Given the description of an element on the screen output the (x, y) to click on. 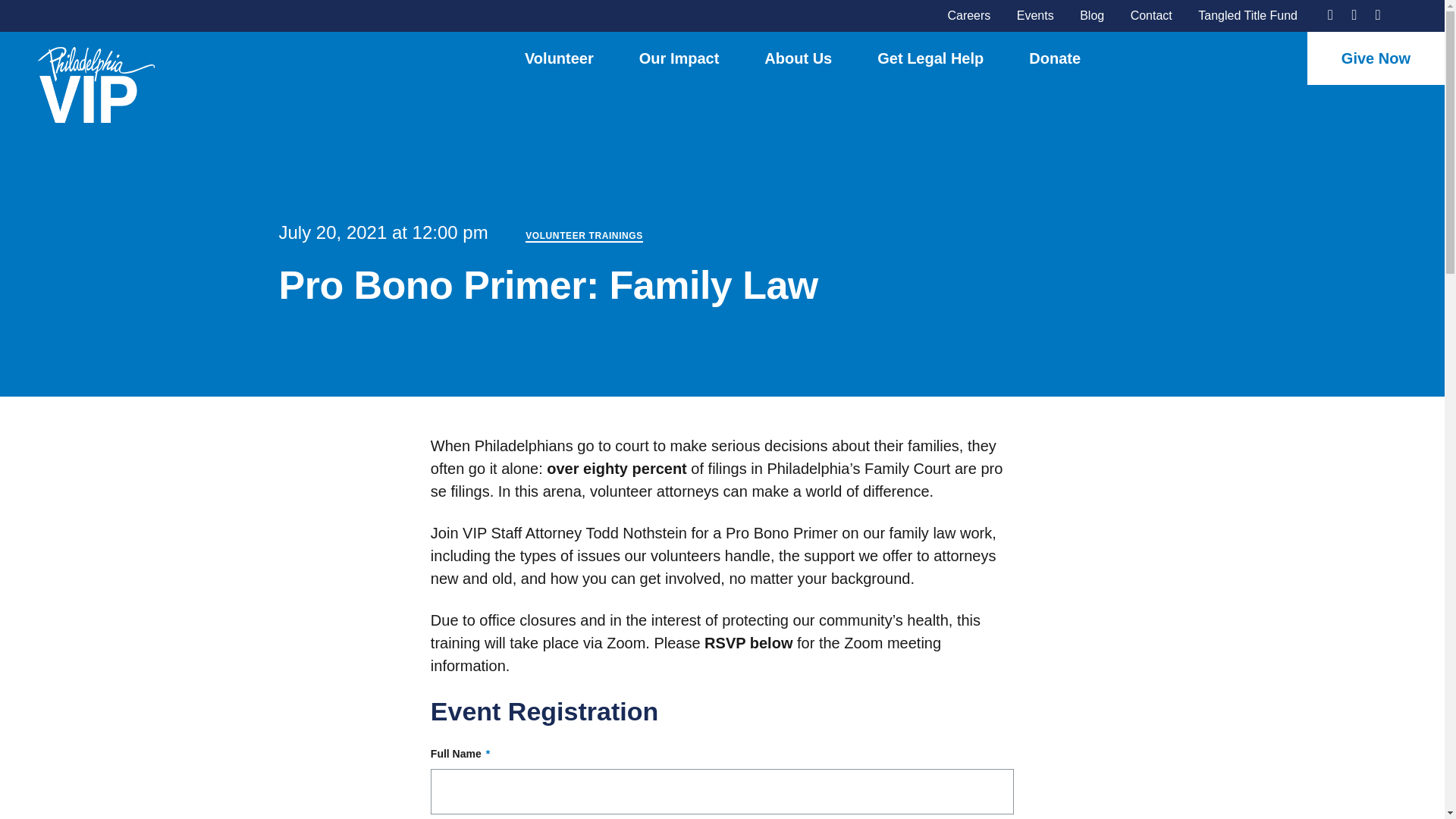
Careers (968, 15)
Get Legal Help (930, 58)
Events (1035, 15)
Our Impact (678, 58)
Blog (1091, 15)
Volunteer (558, 58)
Contact (1151, 15)
Donate (1054, 58)
About Us (797, 58)
Tangled Title Fund (1247, 15)
Submit (562, 445)
